Given the description of an element on the screen output the (x, y) to click on. 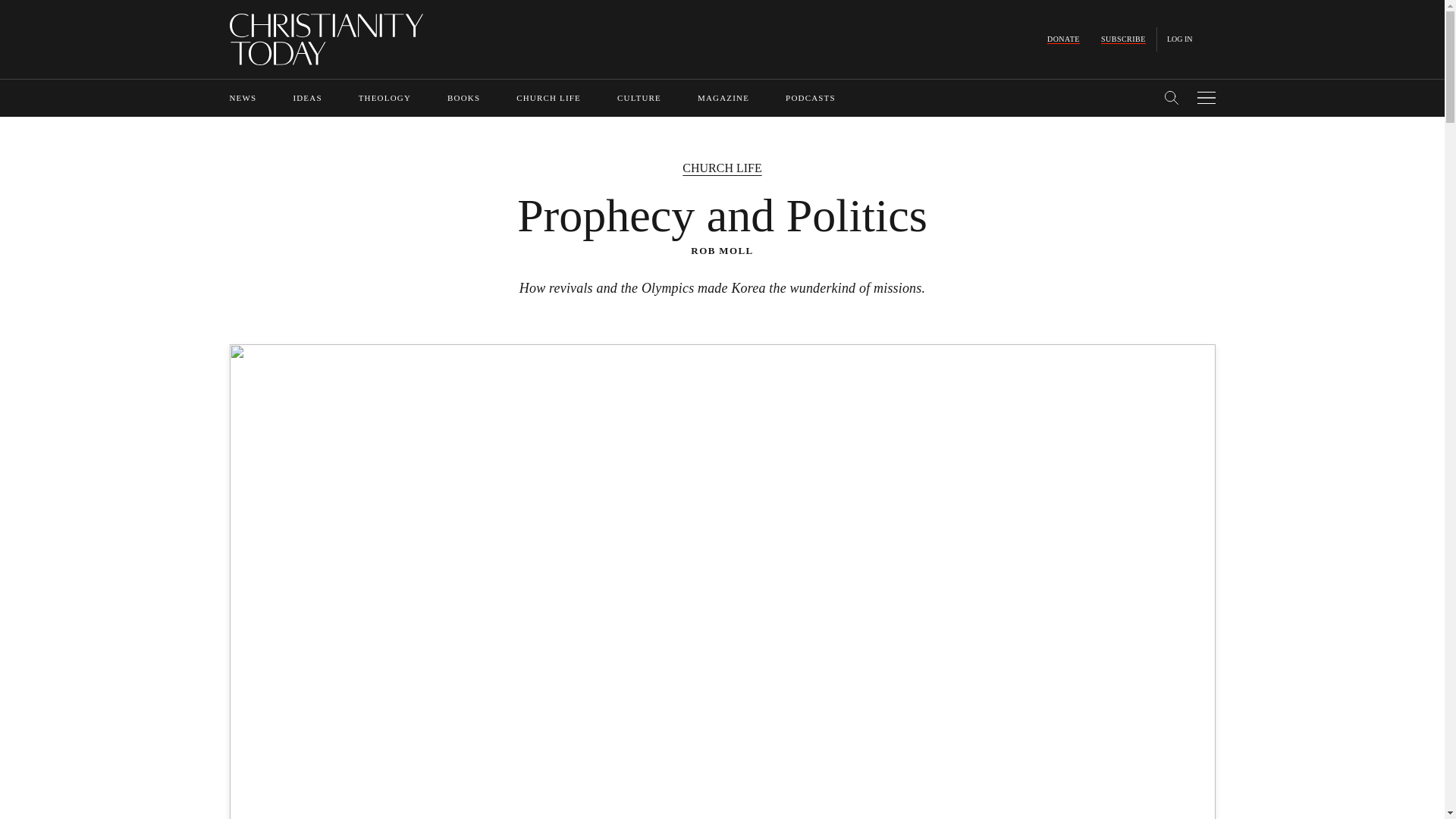
NEWS (242, 97)
THEOLOGY (384, 97)
SUBSCRIBE (1122, 39)
BOOKS (463, 97)
CULTURE (639, 97)
CHURCH LIFE (548, 97)
IDEAS (306, 97)
MAGAZINE (723, 97)
PODCASTS (810, 97)
DONATE (1063, 39)
